Given the description of an element on the screen output the (x, y) to click on. 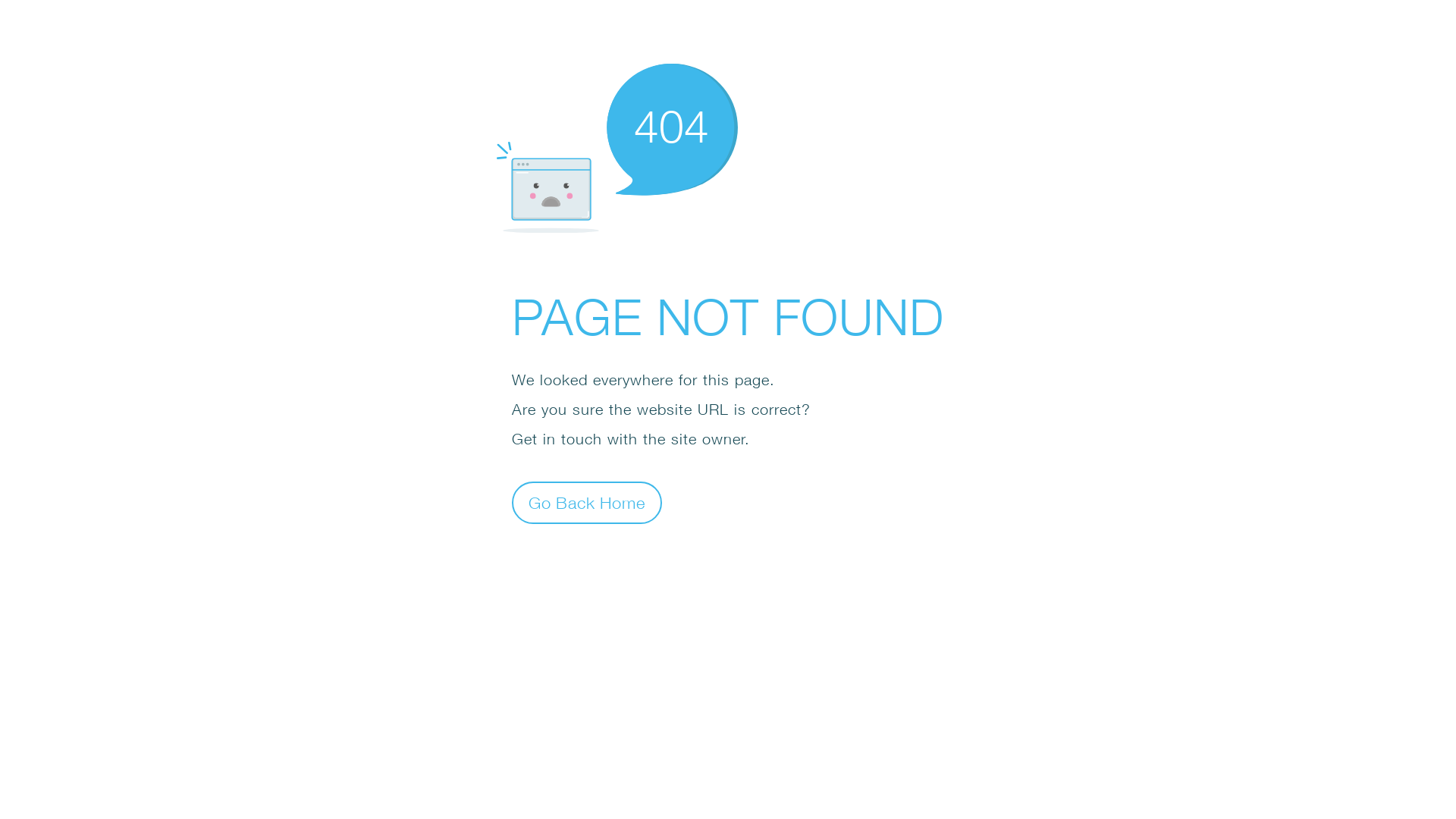
Go Back Home Element type: text (586, 502)
